Given the description of an element on the screen output the (x, y) to click on. 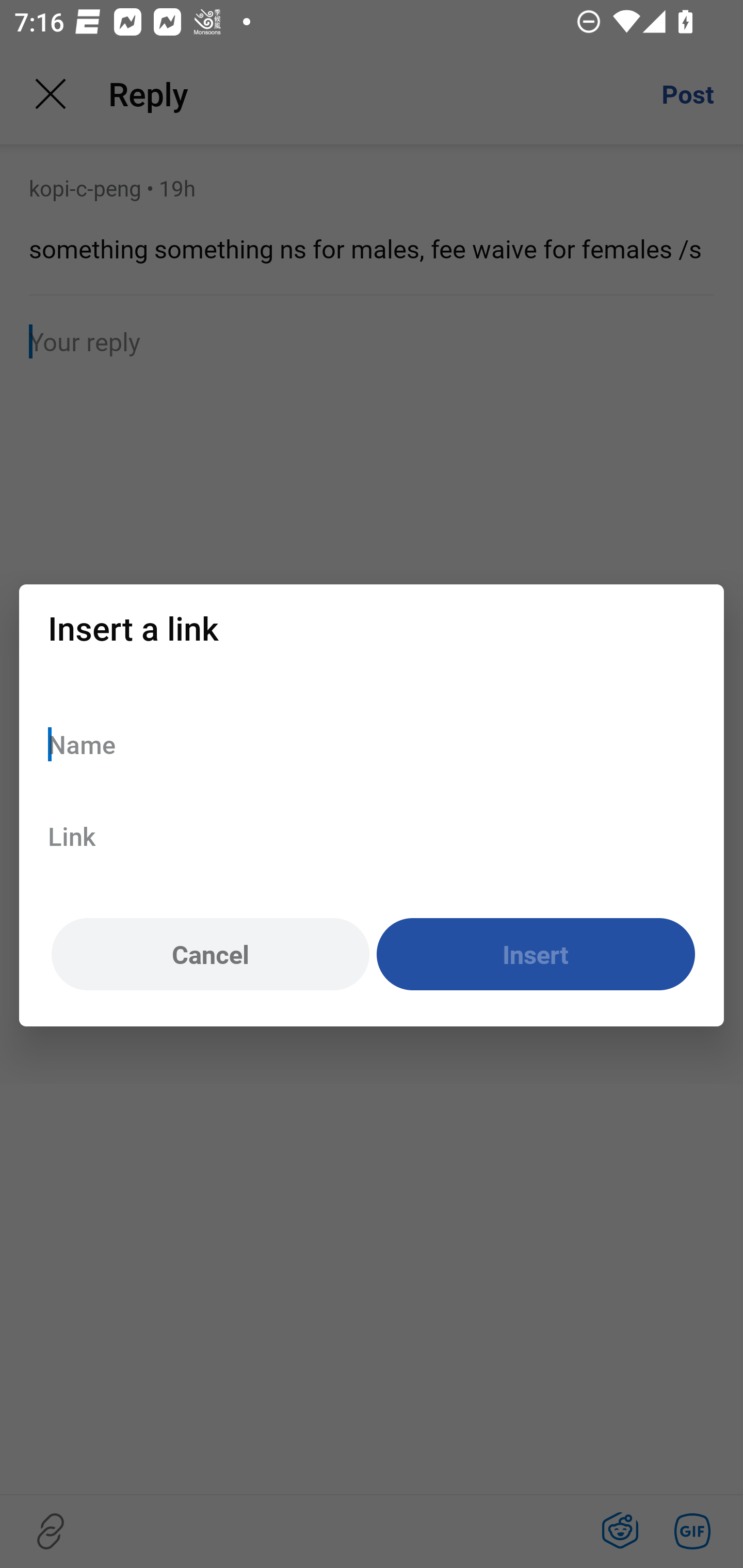
Name (371, 743)
Link (371, 835)
Cancel (210, 954)
Insert (535, 954)
